Given the description of an element on the screen output the (x, y) to click on. 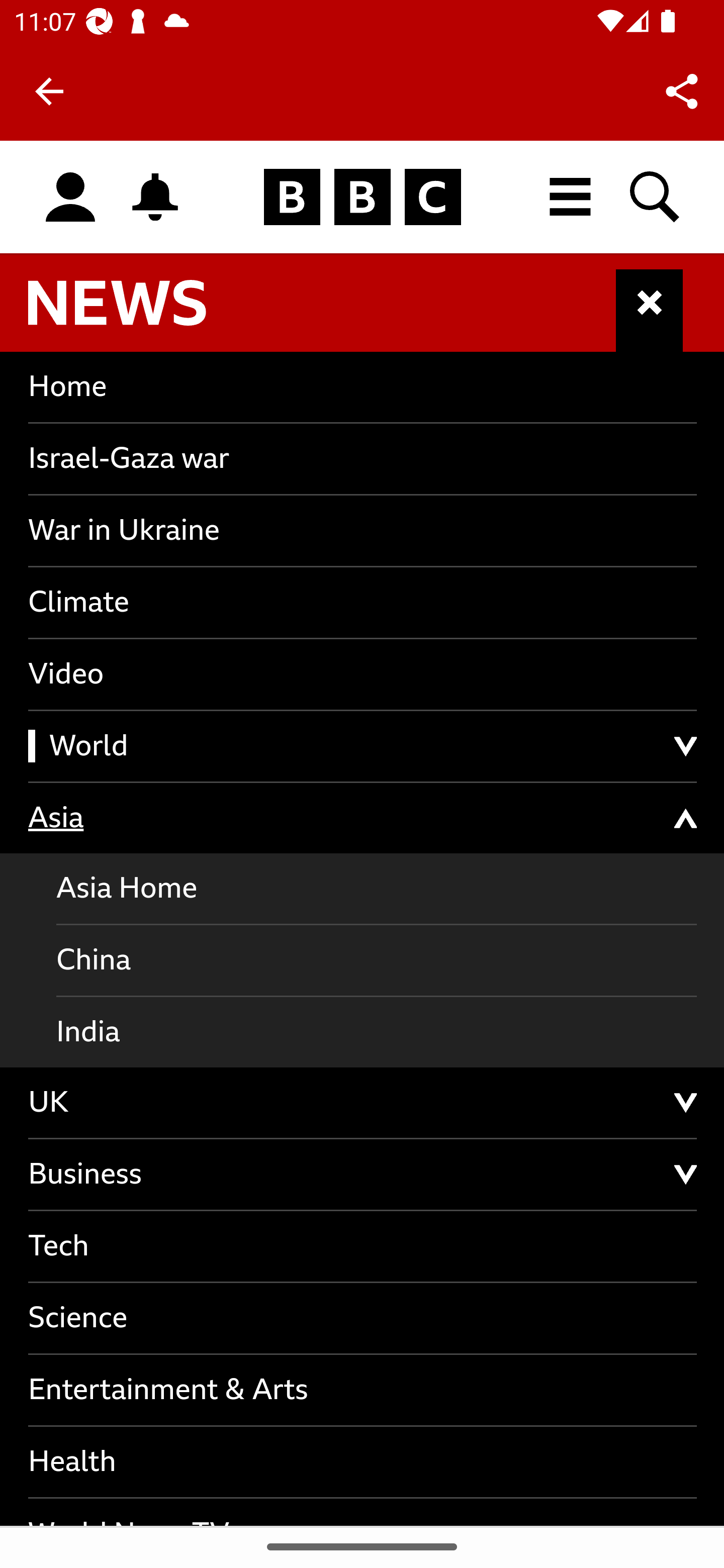
Back (49, 91)
Share (681, 90)
Notifications (155, 197)
All BBC destinations menu (570, 197)
Search BBC (655, 197)
Sign in (70, 198)
Homepage (361, 198)
Sections (650, 310)
BBC News (133, 310)
Home (363, 386)
Israel-Gaza war (363, 457)
War in Ukraine (363, 529)
Climate (363, 602)
Video (363, 674)
World selected (363, 746)
Asia (363, 818)
Asia Home (377, 889)
China (377, 961)
India (377, 1031)
UK (363, 1102)
Business (363, 1174)
Tech (363, 1246)
Science (363, 1318)
Entertainment & Arts (363, 1390)
Health (363, 1462)
